Given the description of an element on the screen output the (x, y) to click on. 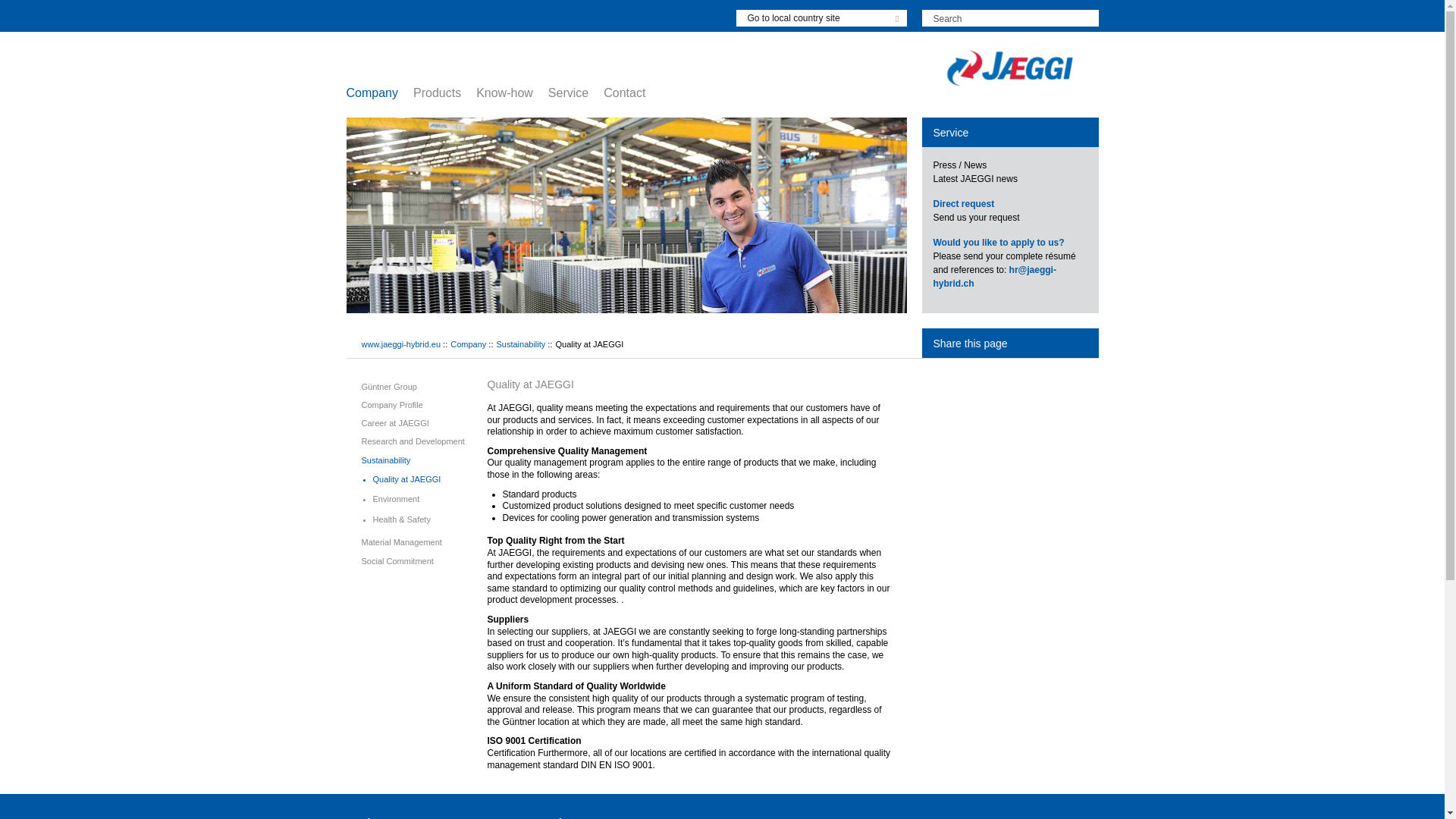
Would you like to apply to us? (998, 242)
JAEGGI Hybridtechnologie AG Homepage (1010, 67)
Search (1010, 17)
Service (576, 93)
Company Profile (391, 404)
Company (379, 93)
Direct request (963, 204)
Go to local country site (820, 17)
Opens window for sending email (963, 204)
Search (1010, 17)
